Given the description of an element on the screen output the (x, y) to click on. 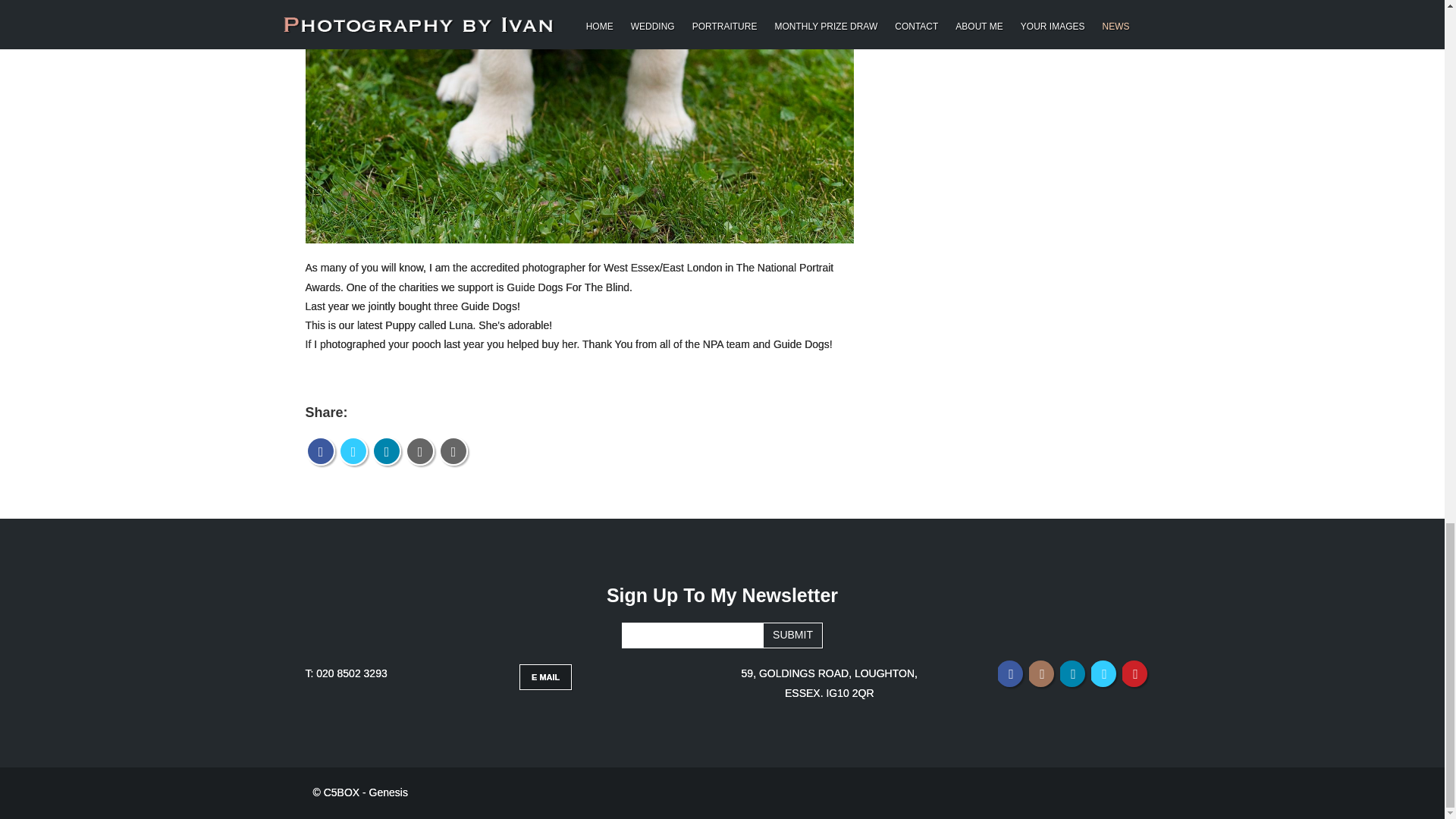
Twitter (1104, 673)
LinkedIn (386, 451)
Submit (792, 635)
LinkedIn (1072, 673)
Pinterest (1135, 673)
Reddit (419, 451)
Facebook (1011, 673)
Email (453, 451)
Twitter (353, 451)
Instagram (1042, 673)
